Given the description of an element on the screen output the (x, y) to click on. 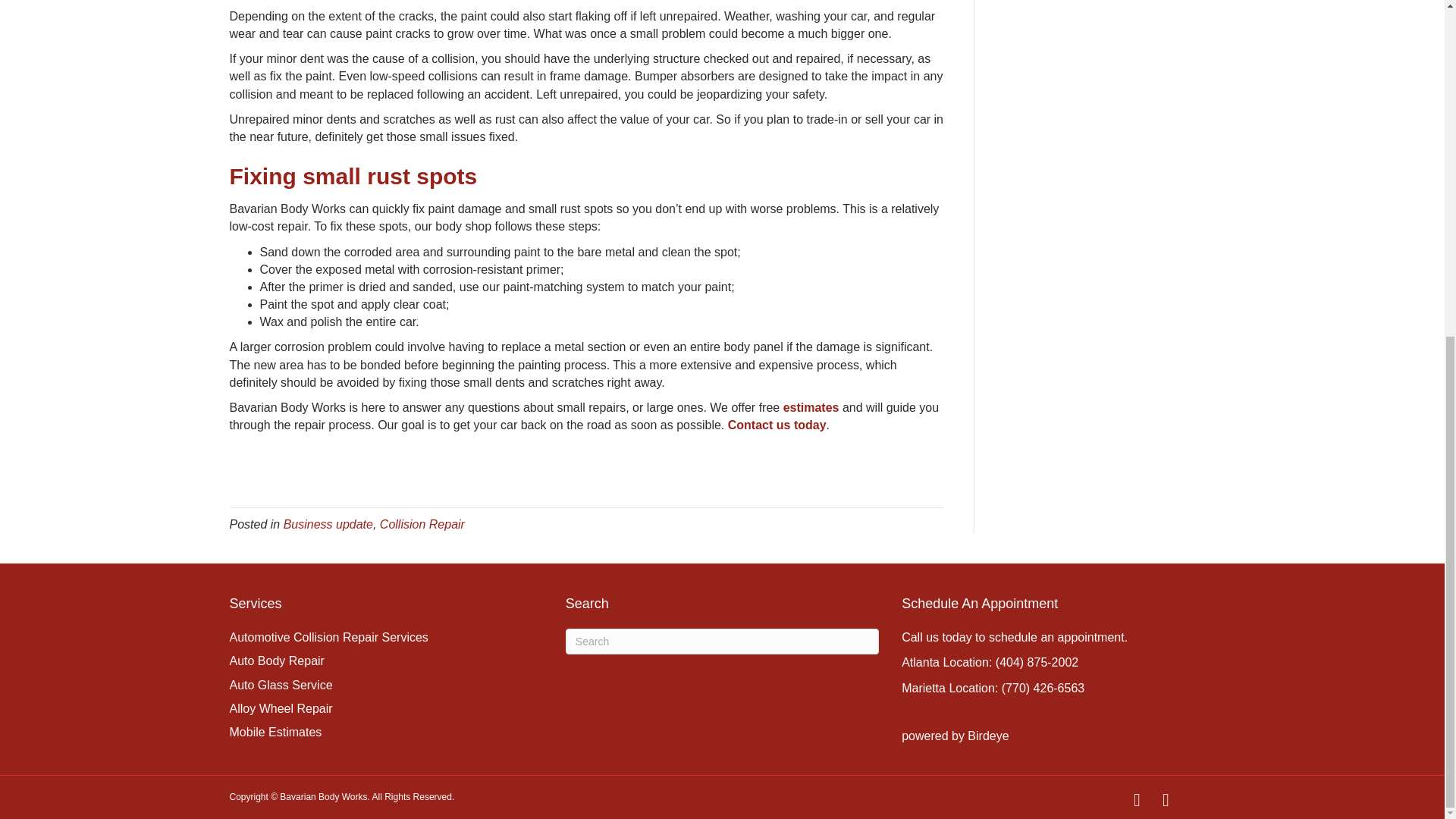
Type and press Enter to search. (722, 641)
